Given the description of an element on the screen output the (x, y) to click on. 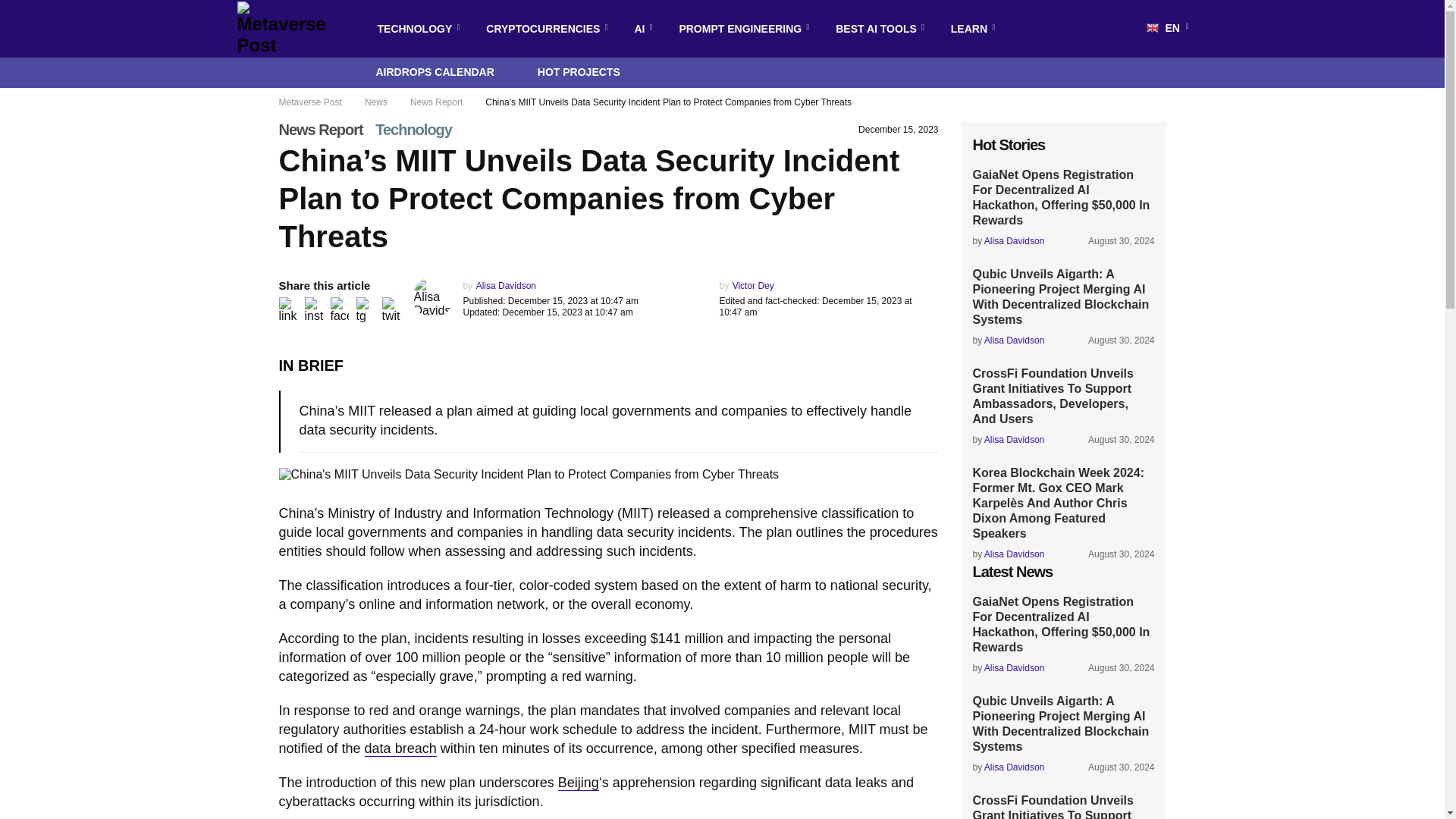
TECHNOLOGY (414, 29)
CRYPTOCURRENCIES (543, 29)
PROMPT ENGINEERING (740, 29)
Posts by Alisa Davidson (505, 285)
Metaverse Post (284, 28)
